Given the description of an element on the screen output the (x, y) to click on. 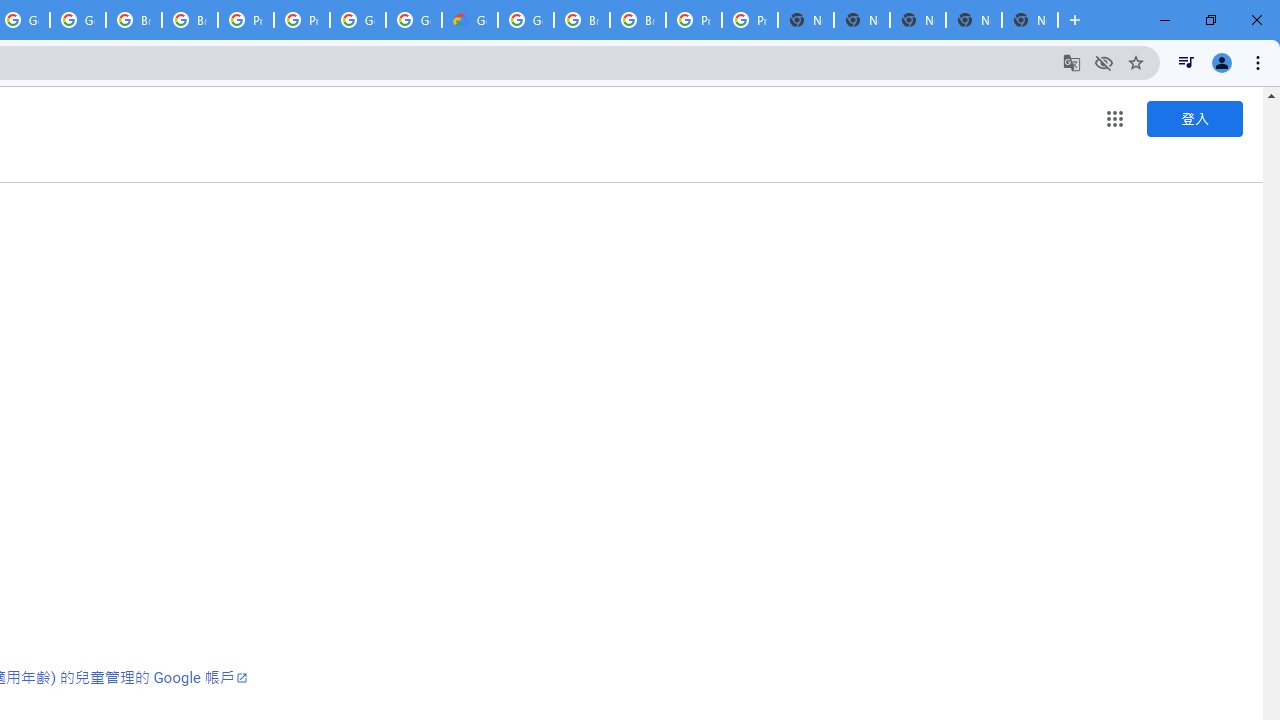
Google Cloud Platform (358, 20)
